Given the description of an element on the screen output the (x, y) to click on. 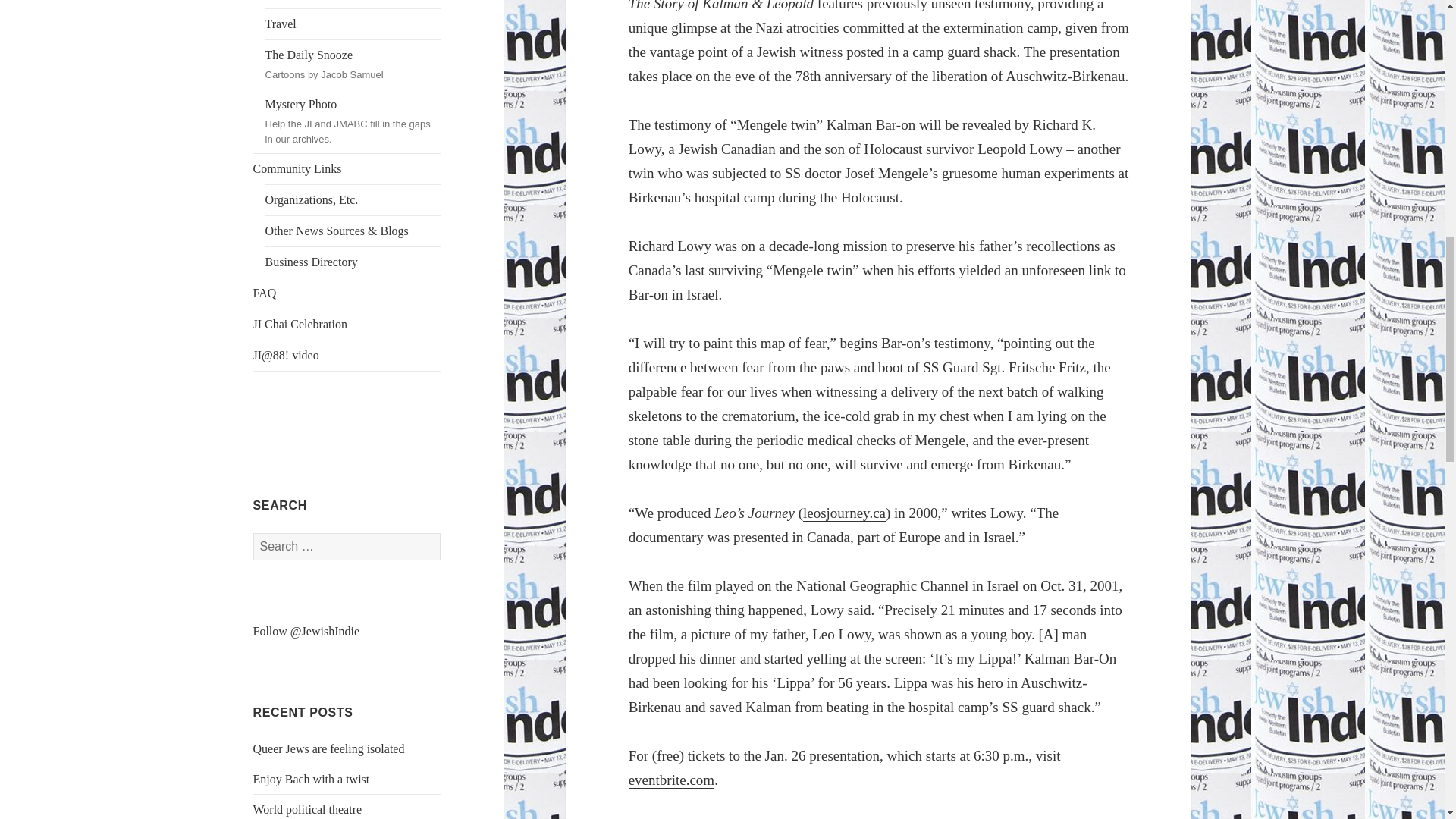
Business Directory (352, 262)
Queer Jews are feeling isolated (328, 748)
Celebrating the Holidays (352, 4)
JI Chai Celebration (347, 324)
Organizations, Etc. (352, 200)
FAQ (347, 293)
Community Links (347, 168)
